Given the description of an element on the screen output the (x, y) to click on. 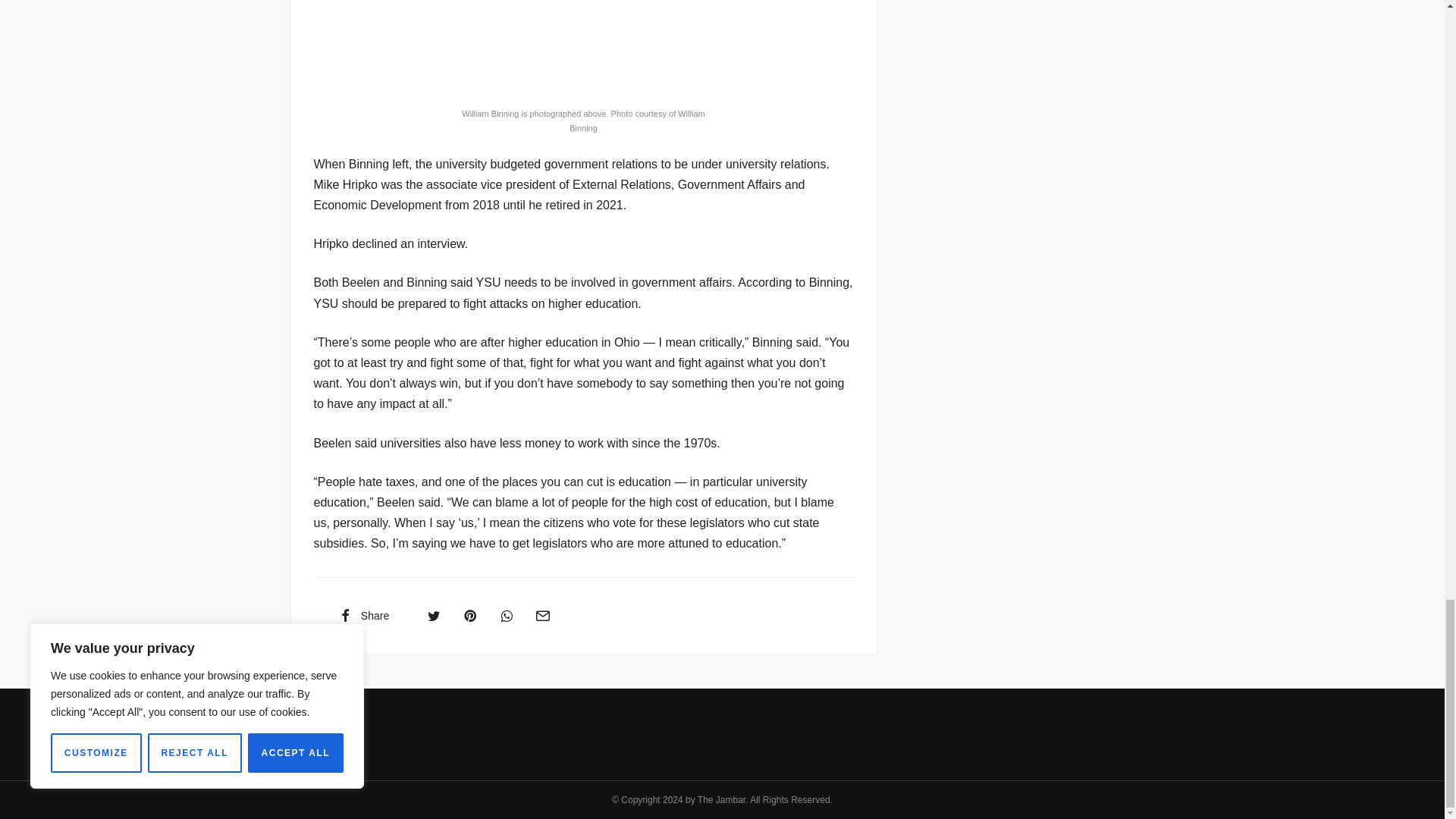
Share on Whatsapp (506, 615)
Share via Email (542, 615)
Share on Twitter (433, 615)
Pin this Post (469, 615)
Share on Facebook (363, 615)
